Given the description of an element on the screen output the (x, y) to click on. 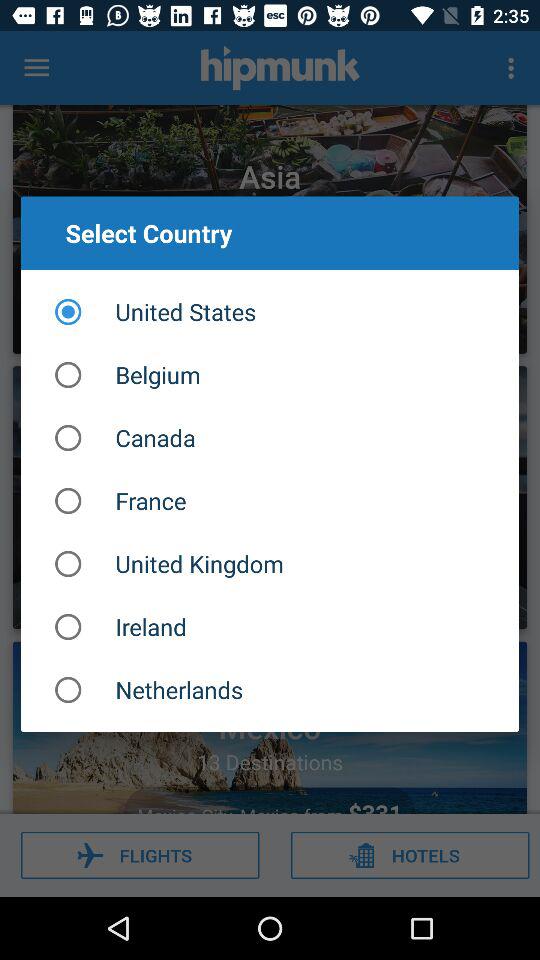
open the item below ireland (270, 689)
